Given the description of an element on the screen output the (x, y) to click on. 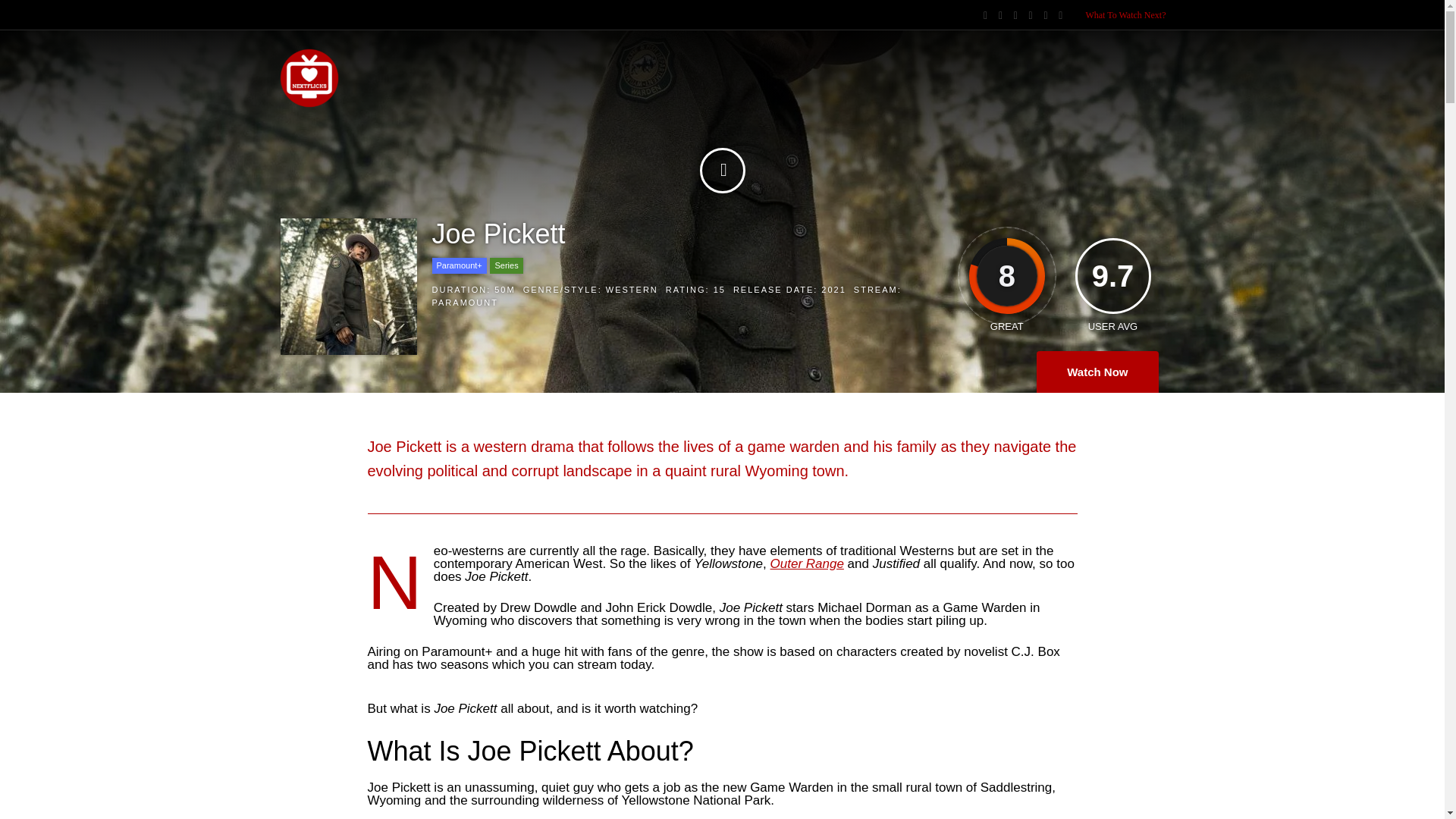
What To Watch Next? (1125, 15)
NextFlicks (309, 104)
